Given the description of an element on the screen output the (x, y) to click on. 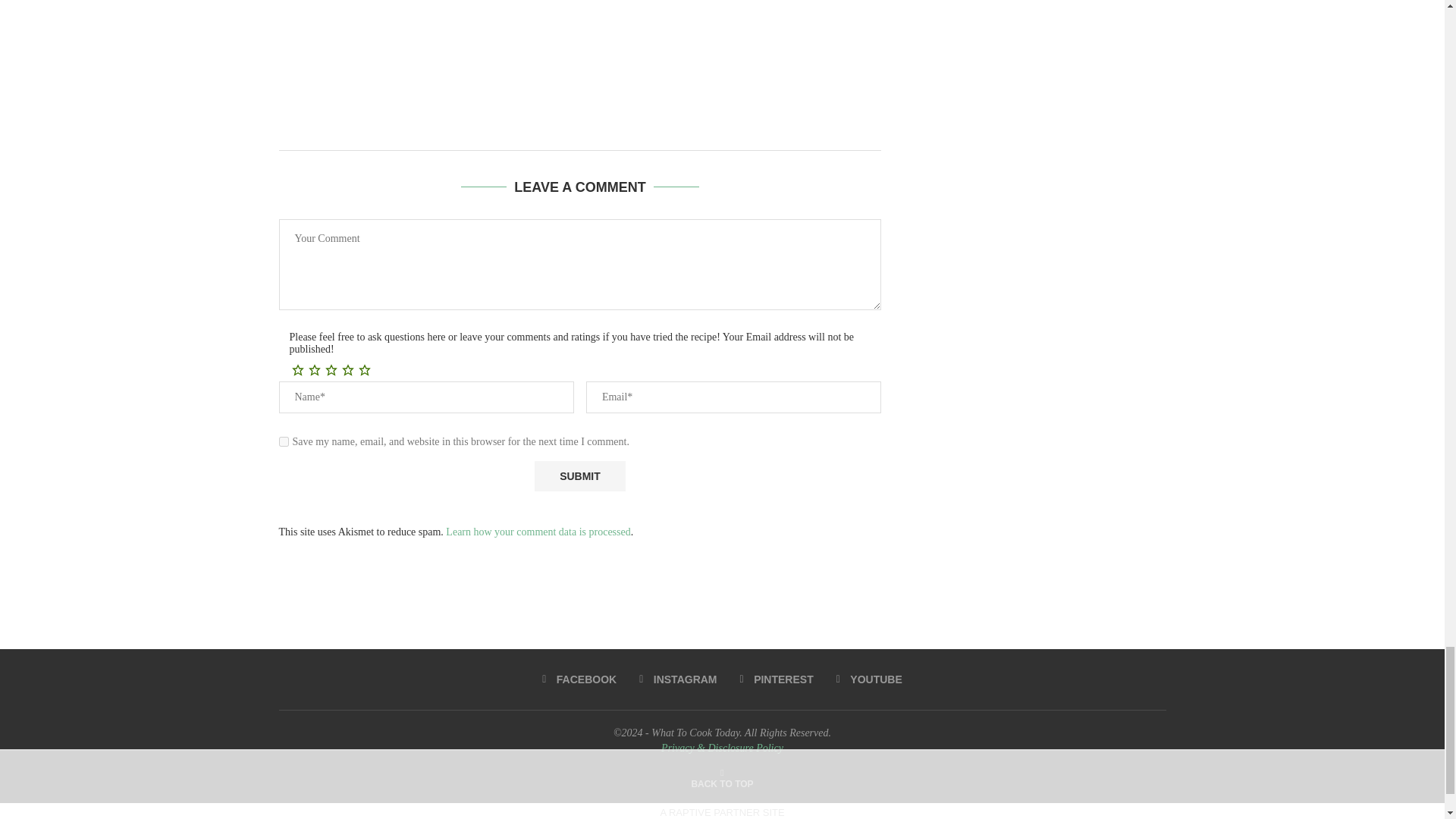
Submit (580, 476)
yes (283, 441)
